Given the description of an element on the screen output the (x, y) to click on. 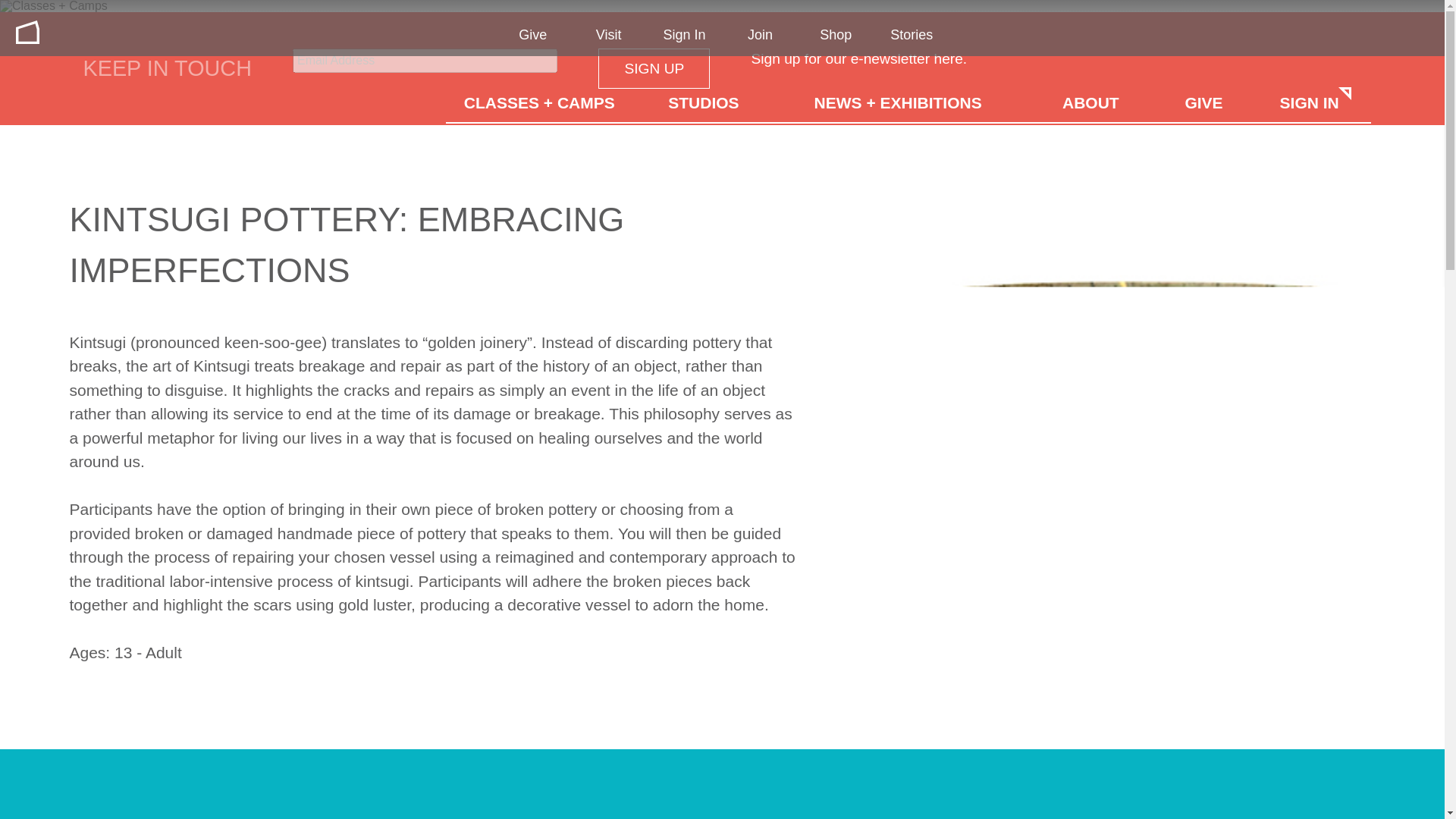
Stories (911, 34)
Give (532, 34)
Join (760, 34)
Skip to main content (12, 12)
Visit (608, 34)
Sign In (684, 34)
Shop (835, 34)
Sign Up (654, 68)
STUDIOS (703, 101)
